Given the description of an element on the screen output the (x, y) to click on. 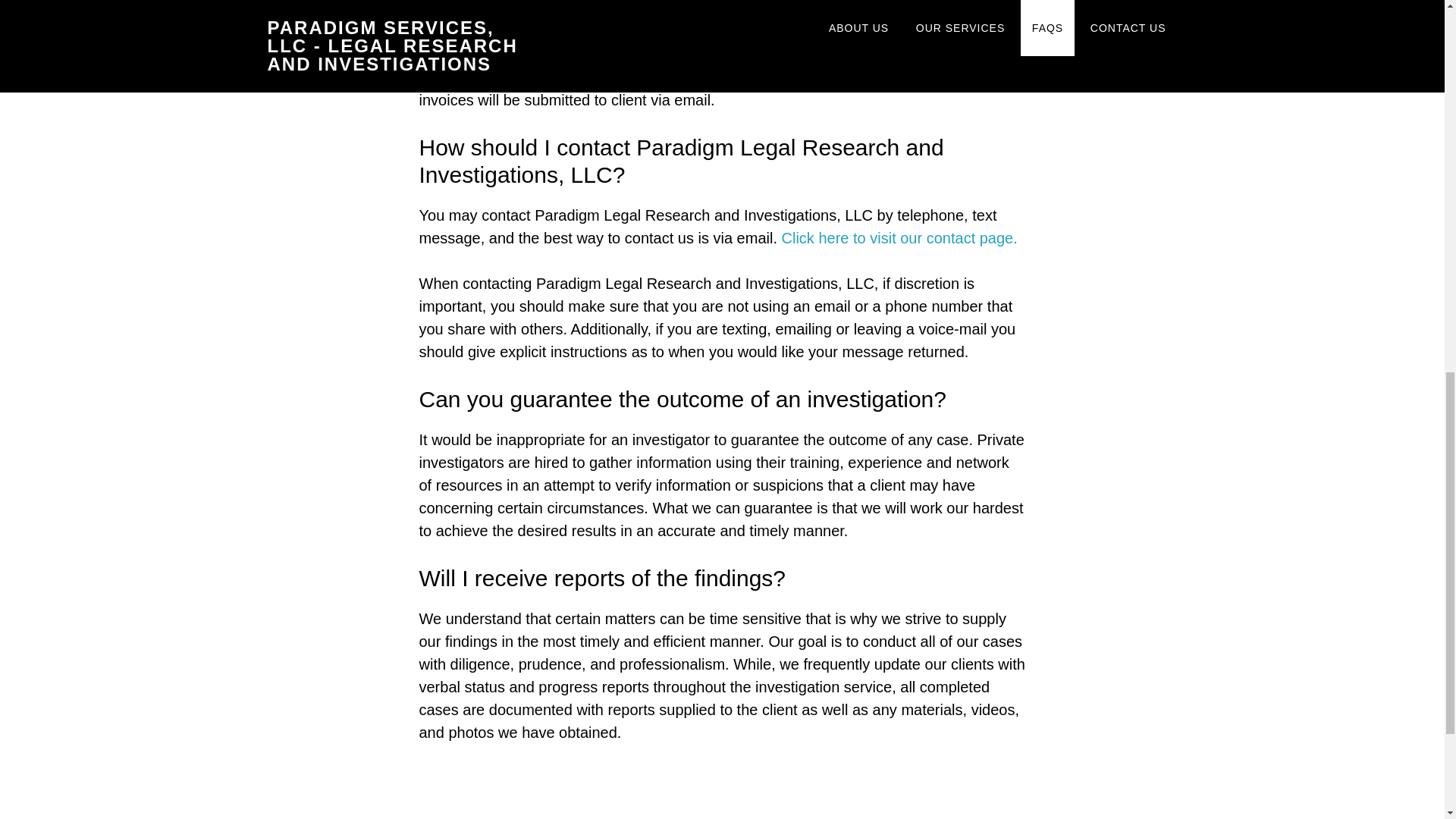
Click here to visit our contact page. (899, 238)
